Given the description of an element on the screen output the (x, y) to click on. 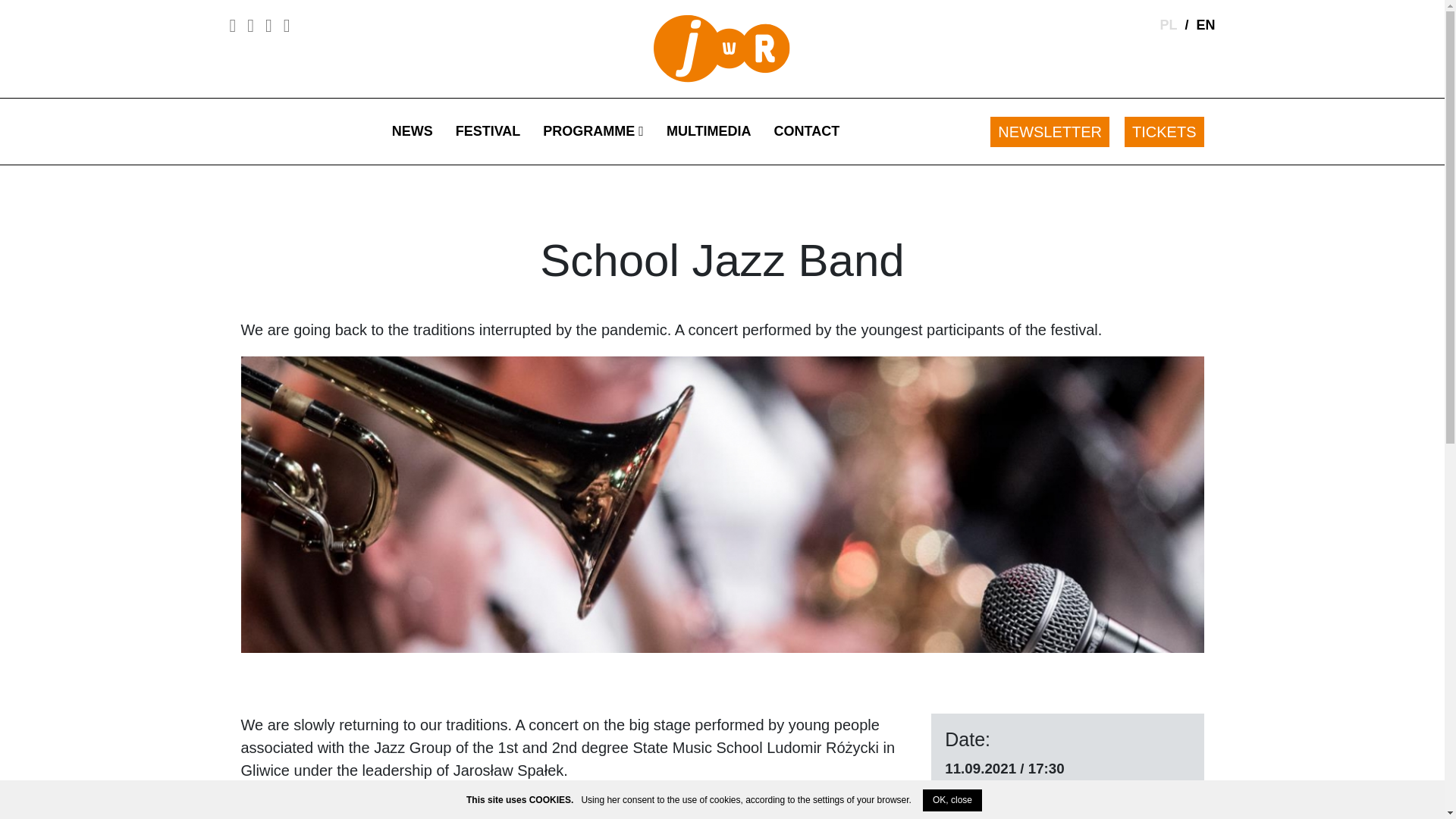
NEWS (412, 131)
CONTACT (806, 131)
NEWSLETTER (1049, 130)
EN (1204, 24)
PROGRAMME (593, 131)
MULTIMEDIA (708, 131)
TICKETS (1163, 130)
FESTIVAL (488, 131)
PL (1167, 24)
